Given the description of an element on the screen output the (x, y) to click on. 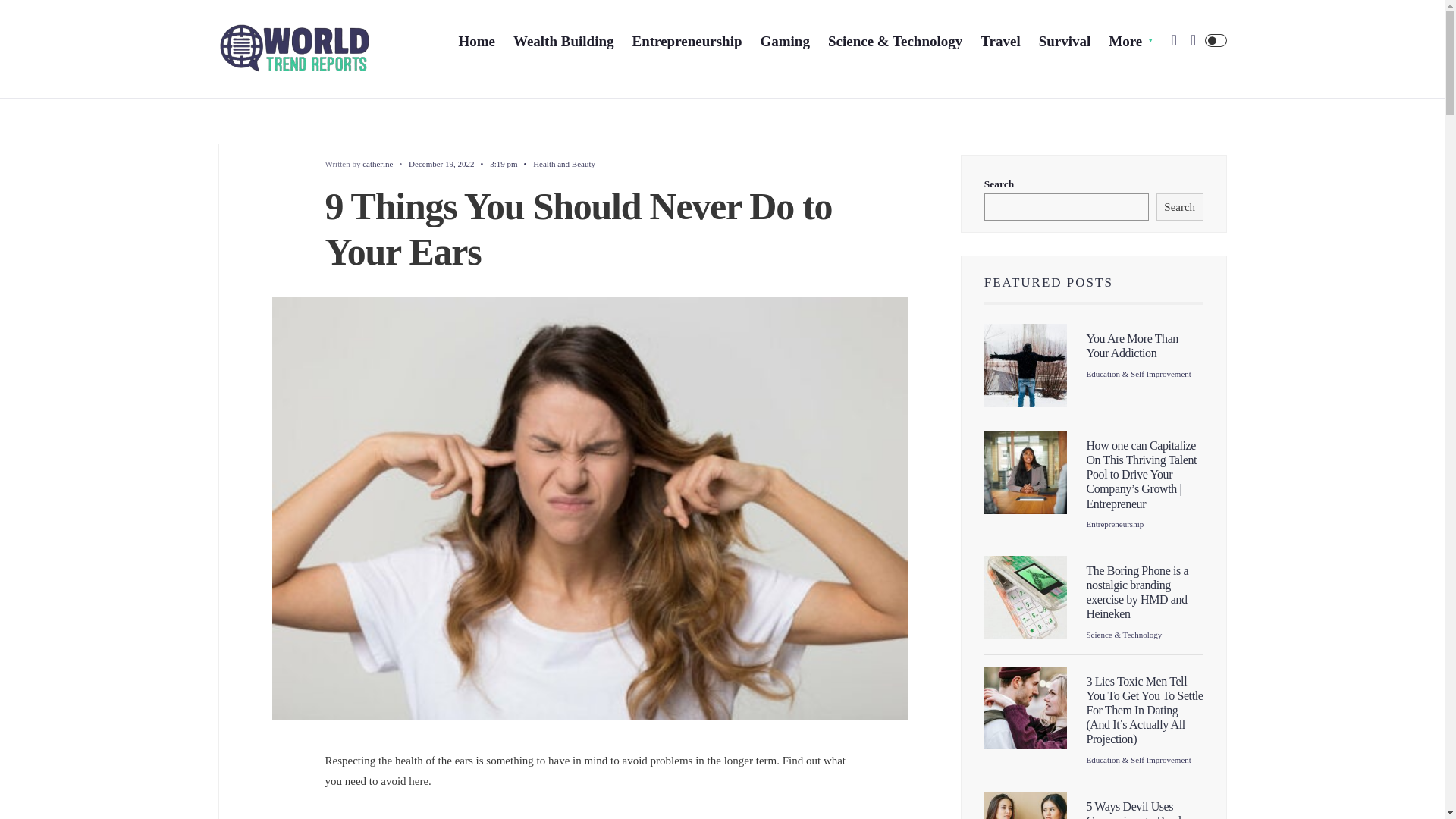
Wealth Building (563, 40)
Posts by catherine (377, 163)
Home (476, 40)
Health and Beauty (563, 163)
Entrepreneurship (686, 40)
You Are More Than Your Addiction (1131, 345)
You Are More Than Your Addiction (1025, 365)
FEATURED POSTS (1048, 282)
Entrepreneurship (1114, 523)
Travel (999, 40)
You Are More Than Your Addiction (1131, 345)
More (1130, 40)
